Given the description of an element on the screen output the (x, y) to click on. 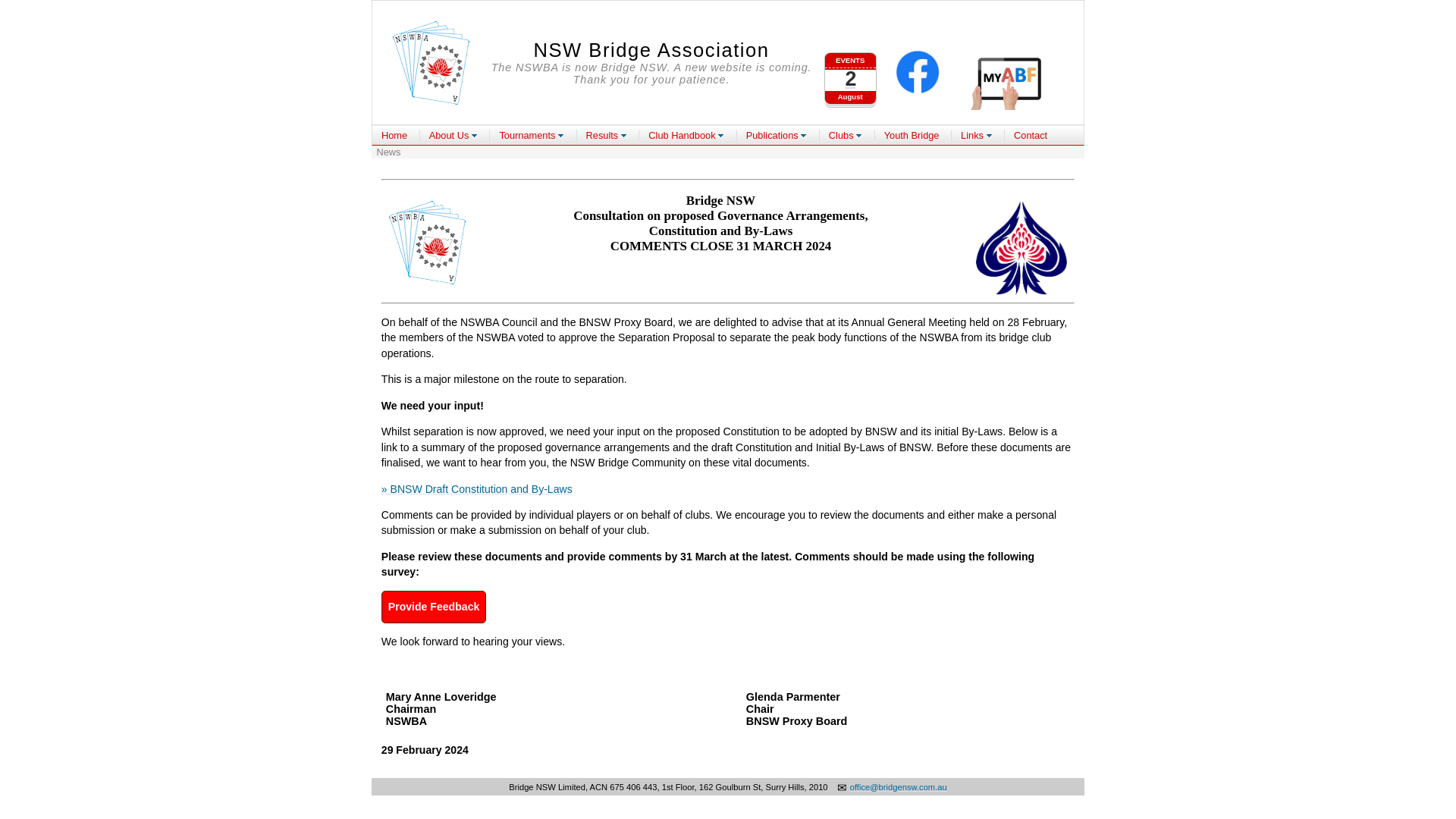
Publications (776, 135)
Clubs (844, 135)
Events Calendar (850, 71)
Links (976, 135)
Log into My ABF (1008, 79)
Results (606, 135)
The home of Bridge in Sydney and NSW (850, 71)
Home (430, 62)
Tournaments (394, 135)
